Given the description of an element on the screen output the (x, y) to click on. 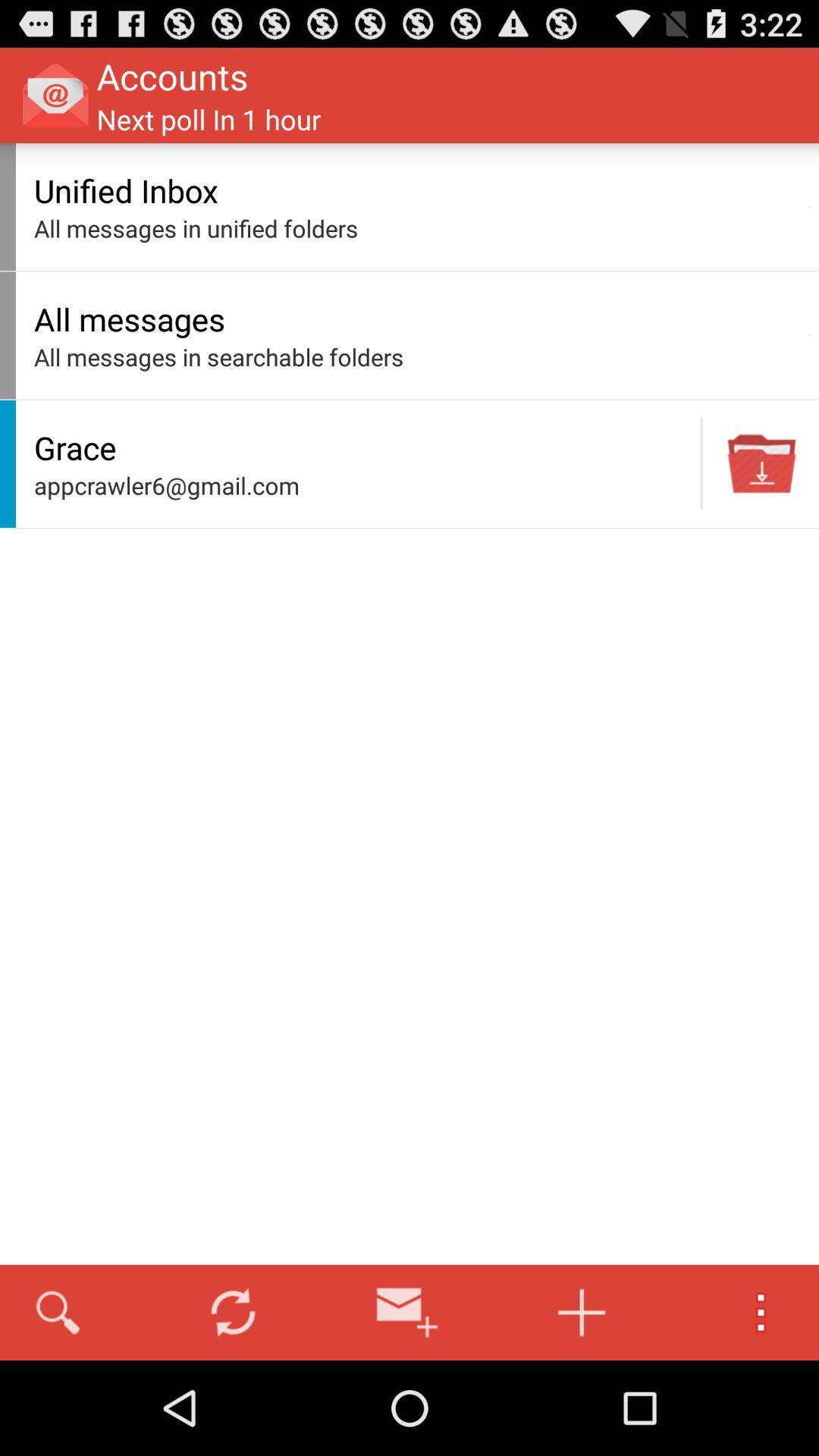
launch app above all messages in item (417, 190)
